Given the description of an element on the screen output the (x, y) to click on. 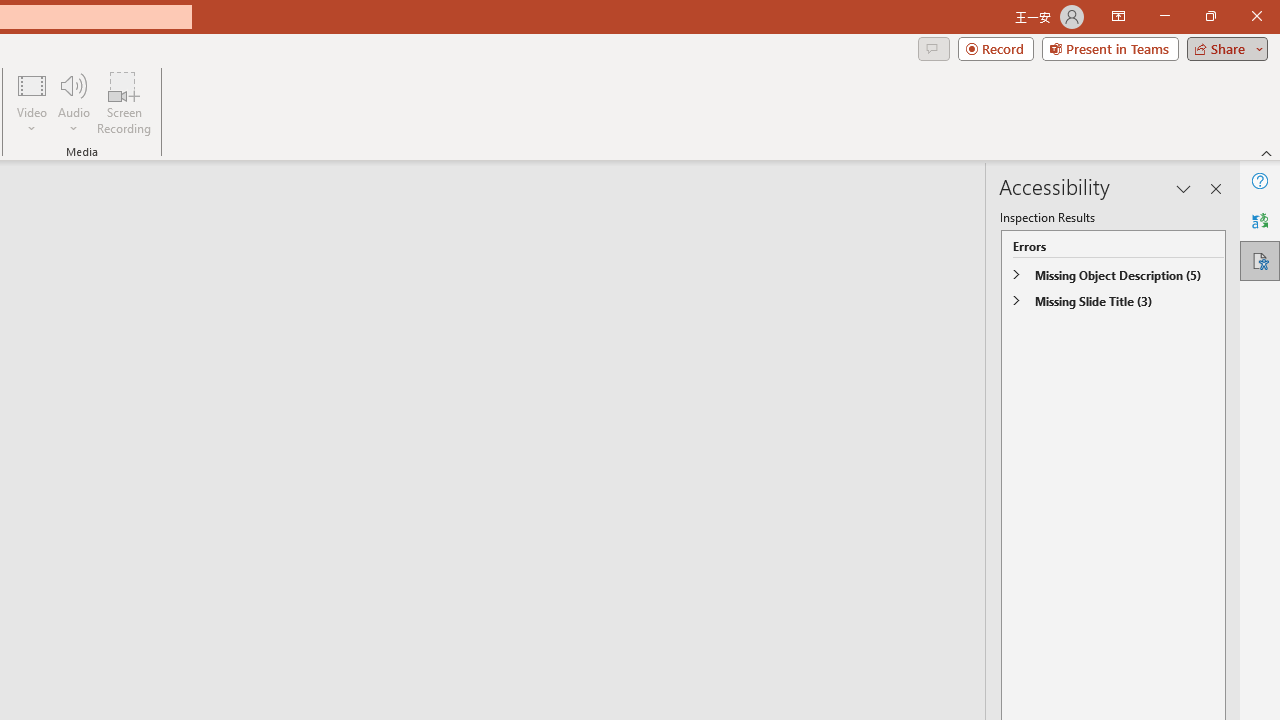
Share (1223, 48)
Translator (1260, 220)
